Given the description of an element on the screen output the (x, y) to click on. 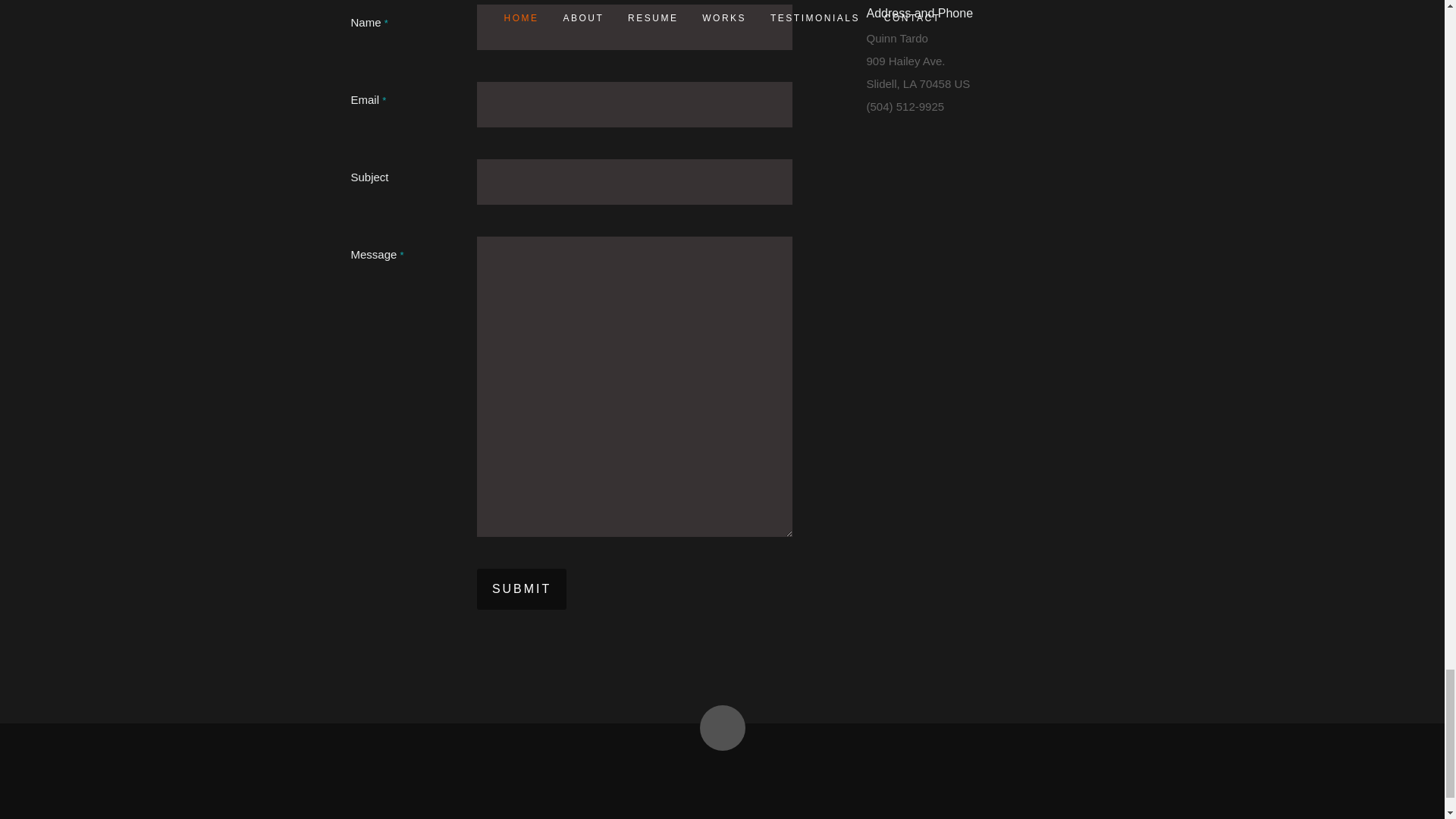
Back to Top (721, 728)
